Given the description of an element on the screen output the (x, y) to click on. 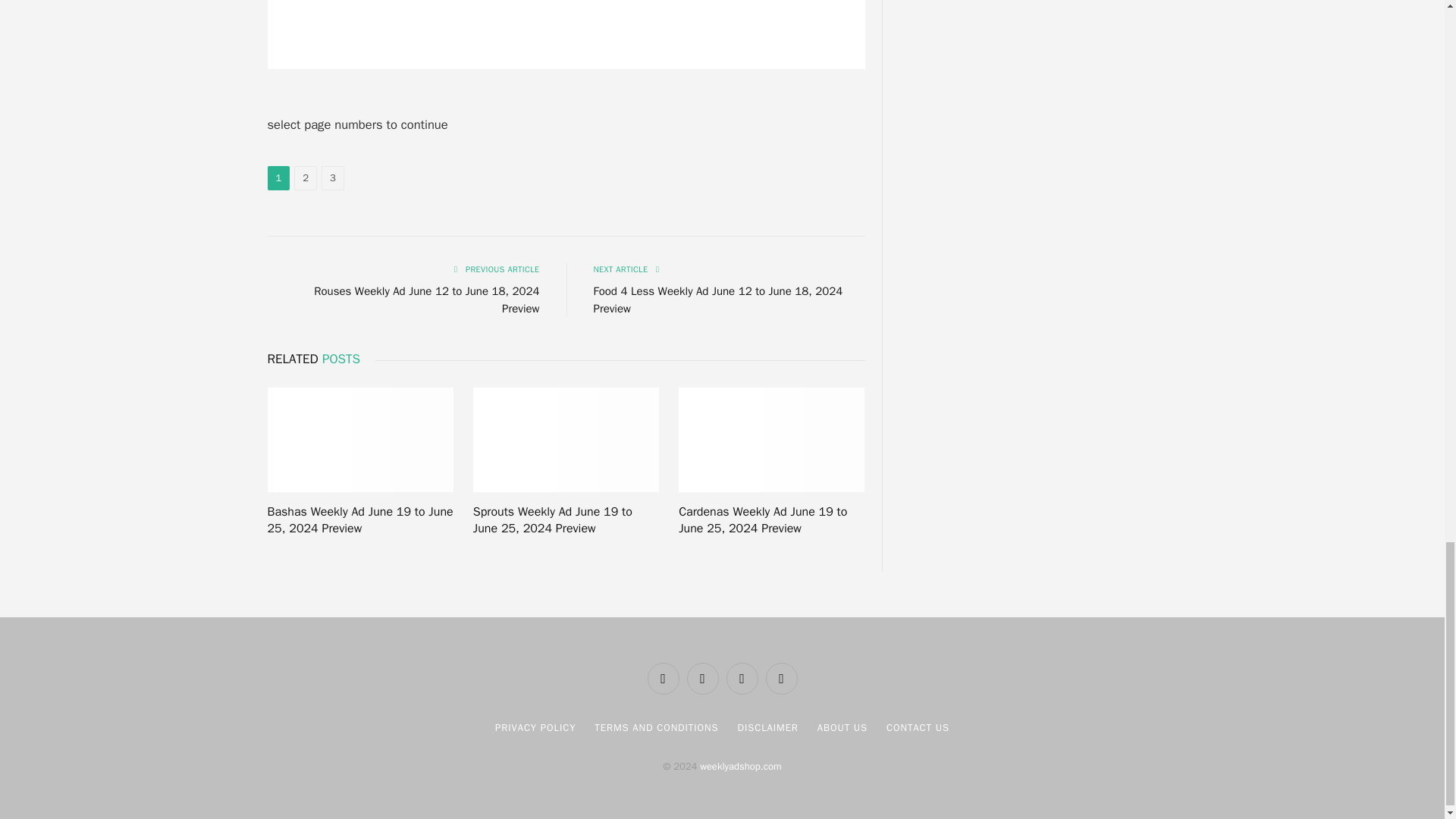
Bashas Weekly Ad June 19 to June 25, 2024 Preview (359, 439)
Sprouts Weekly Ad June 19 to June 25, 2024 Preview (566, 439)
Cardenas Weekly Ad June 19 to June 25, 2024 Preview (771, 439)
bashas weekly ad june 12 1 (565, 34)
